Given the description of an element on the screen output the (x, y) to click on. 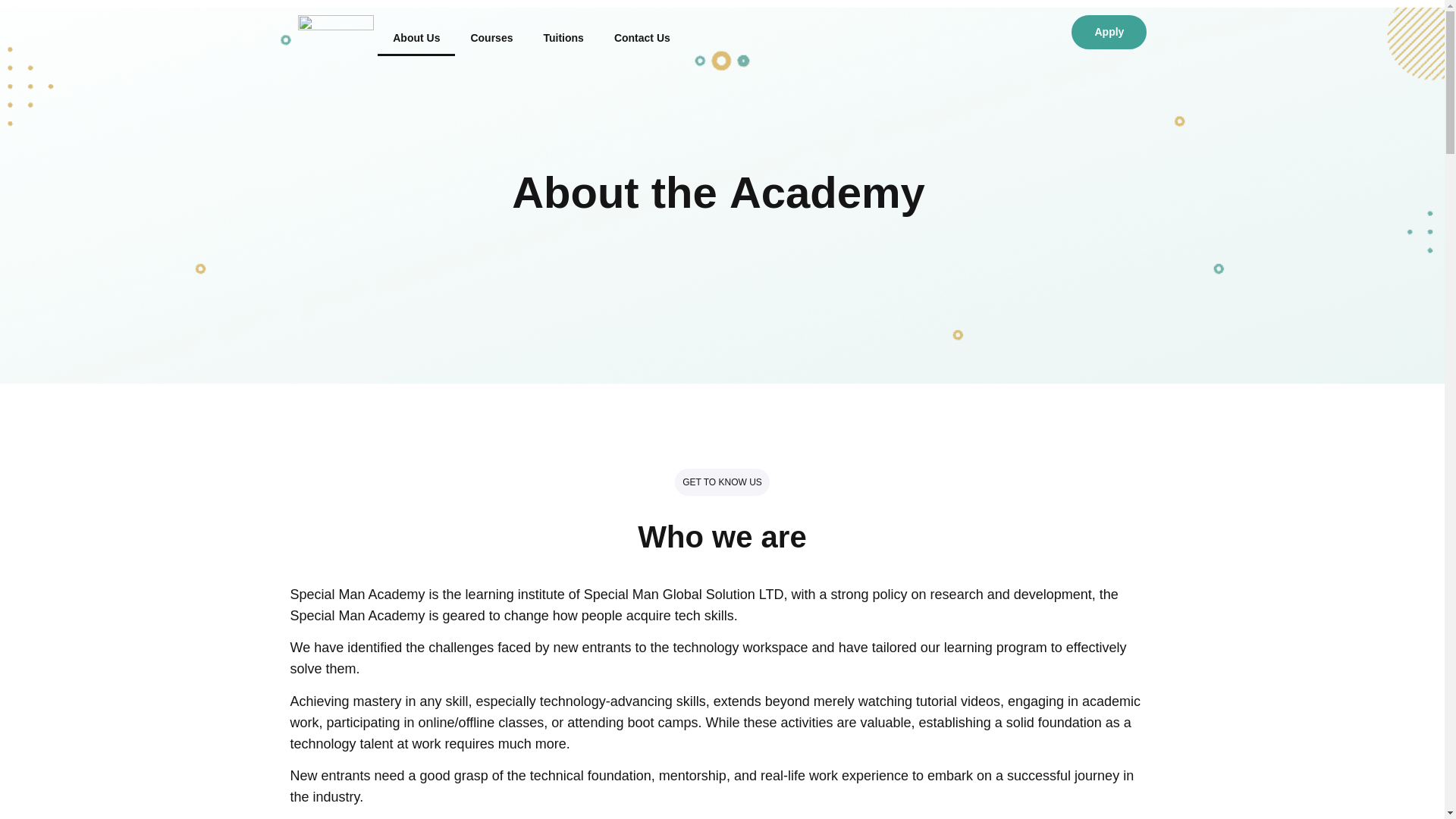
About Us (415, 37)
Contact Us (641, 37)
Tuitions (562, 37)
Courses (490, 37)
Apply (1109, 32)
